Given the description of an element on the screen output the (x, y) to click on. 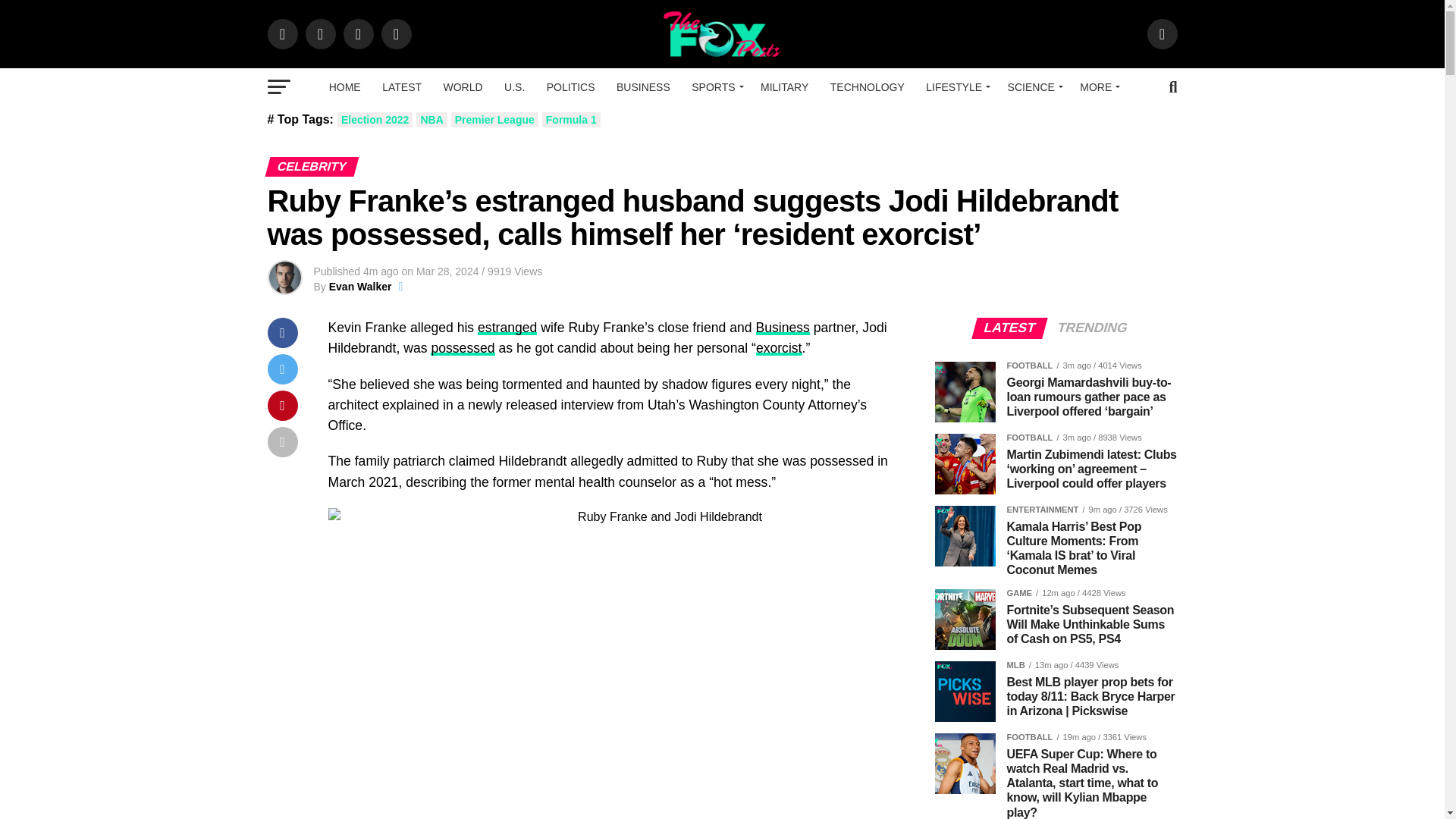
HOME (344, 86)
WORLD (462, 86)
LATEST (401, 86)
